Given the description of an element on the screen output the (x, y) to click on. 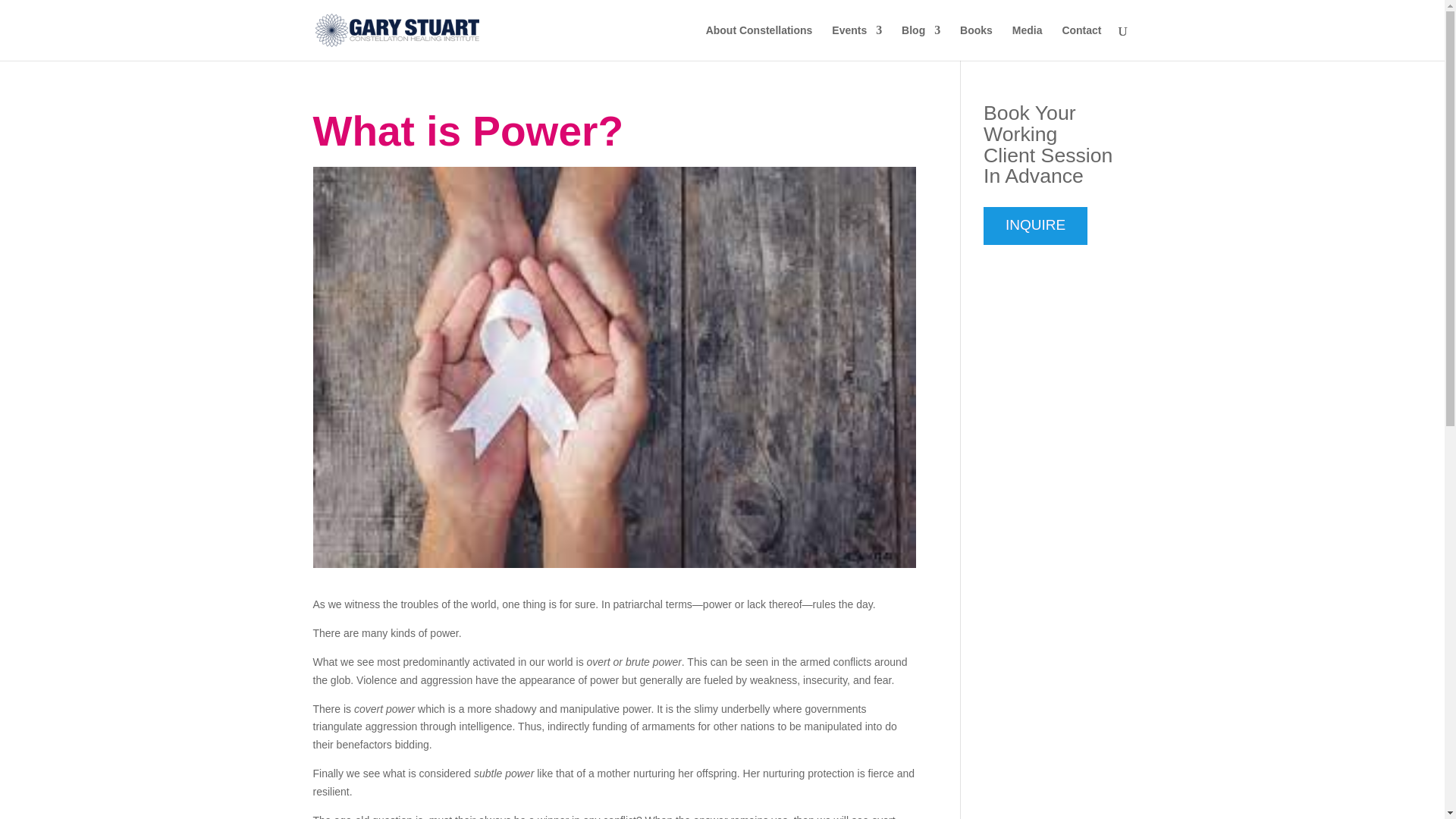
INQUIRE (1035, 225)
Blog (920, 42)
About Constellations (759, 42)
Events (856, 42)
Contact (1080, 42)
Books (975, 42)
